Given the description of an element on the screen output the (x, y) to click on. 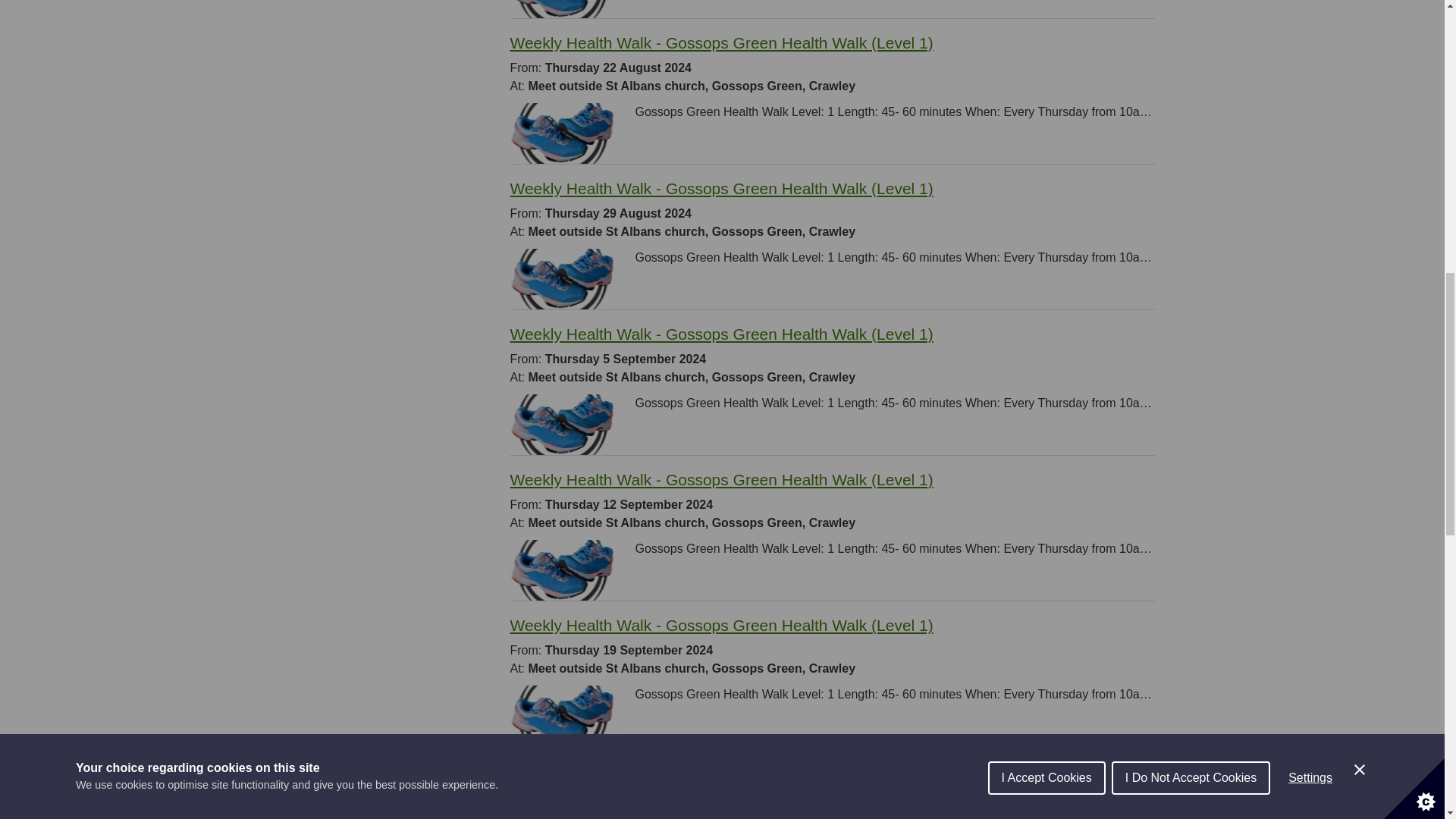
I Accept Cookies (1046, 12)
I Do Not Accept Cookies (1190, 9)
Settings (1309, 2)
